Given the description of an element on the screen output the (x, y) to click on. 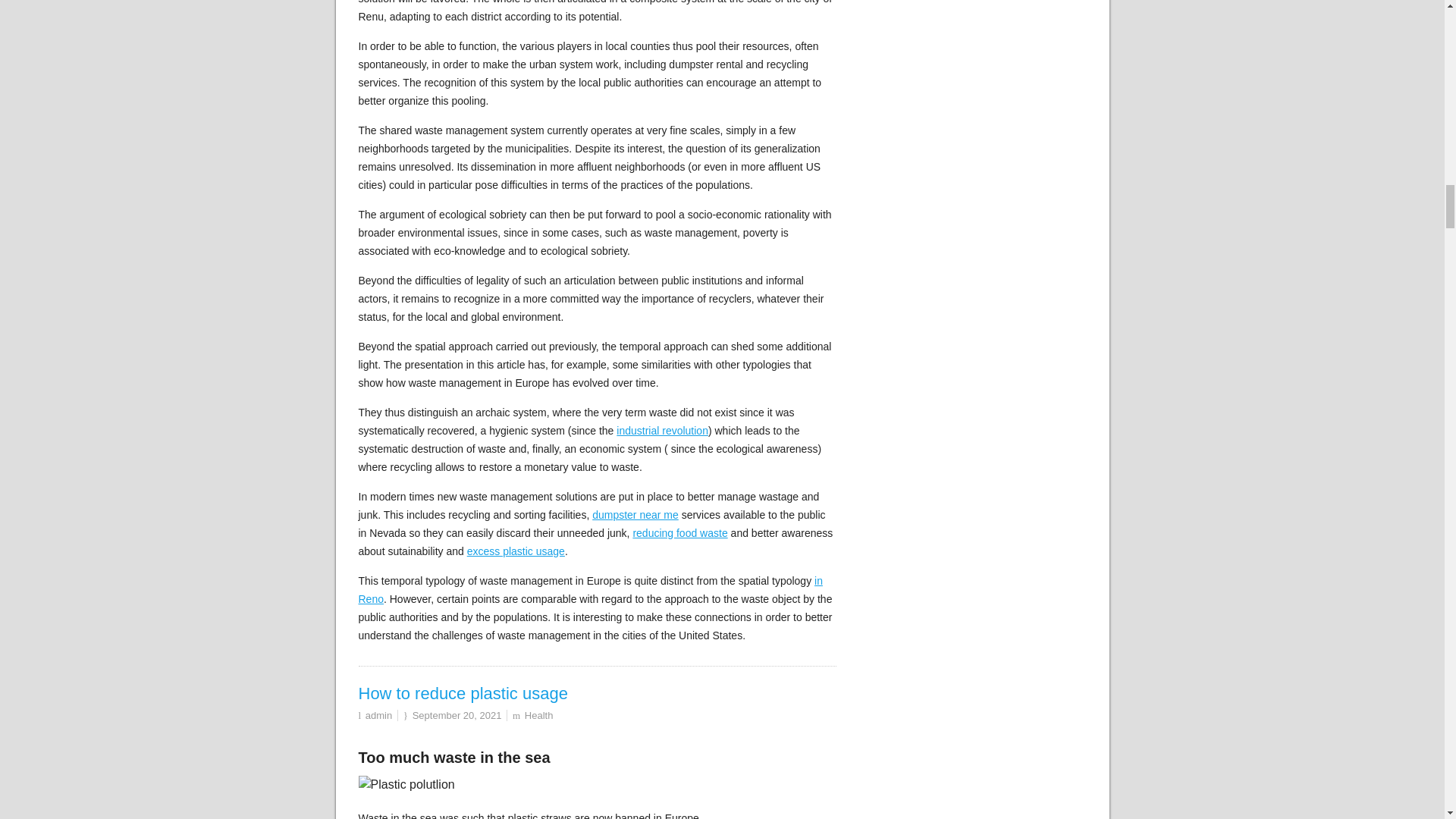
industrial revolution (661, 430)
in Reno (590, 589)
excess plastic usage (515, 551)
reducing food waste (678, 532)
admin (378, 715)
dumpster near me (635, 514)
September 20, 2021 (457, 715)
How to reduce plastic usage (462, 692)
Health (538, 715)
Posts by admin (378, 715)
